Given the description of an element on the screen output the (x, y) to click on. 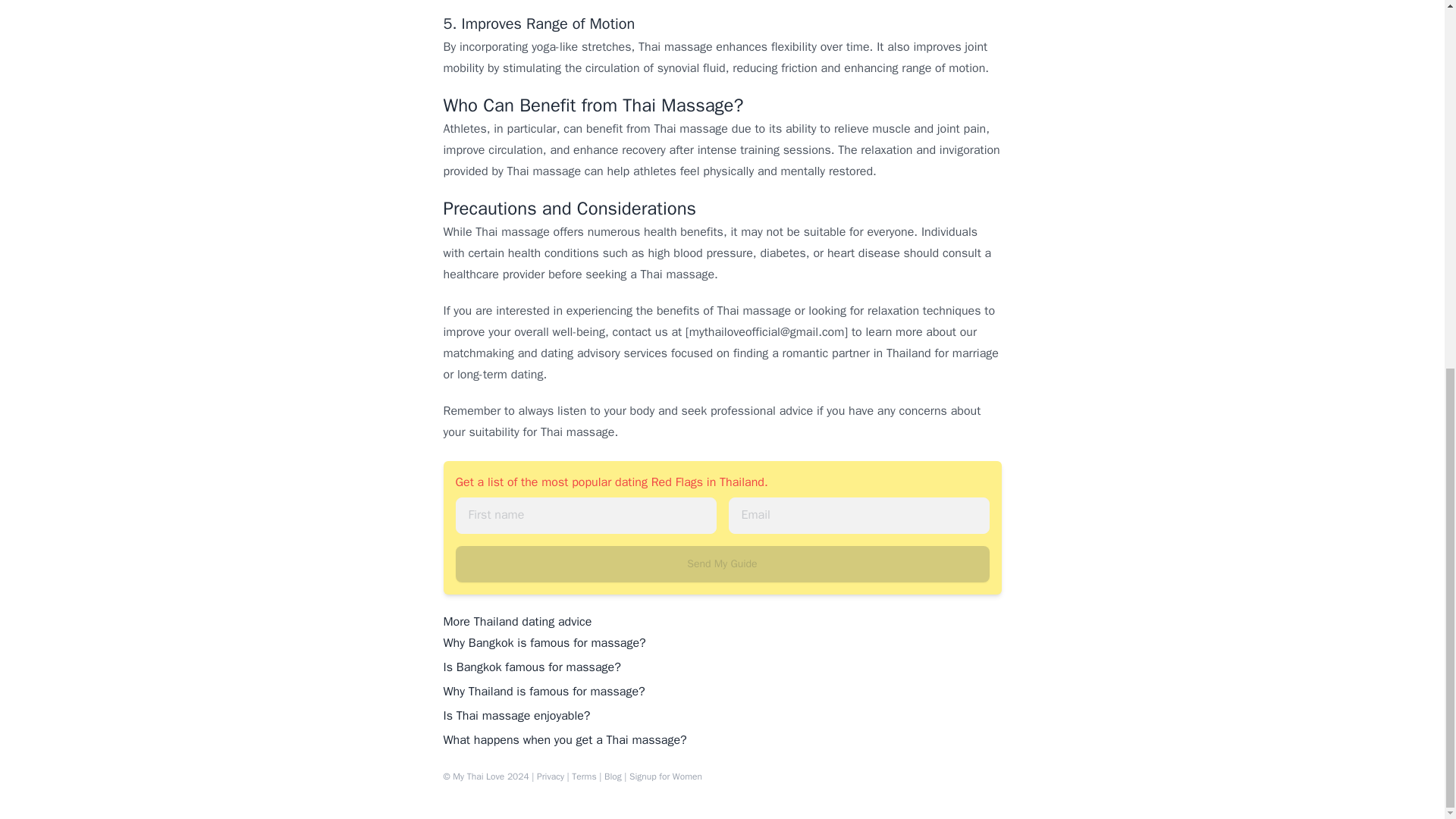
Blog (612, 776)
Is Thai massage enjoyable? (515, 715)
Is Bangkok famous for massage? (531, 667)
Why Thailand is famous for massage? (543, 691)
What happens when you get a Thai massage? (563, 739)
My Thai Love (477, 776)
Privacy (550, 776)
Send My Guide (721, 564)
Terms (583, 776)
Signup for Women (664, 776)
Why Bangkok is famous for massage? (543, 642)
